Given the description of an element on the screen output the (x, y) to click on. 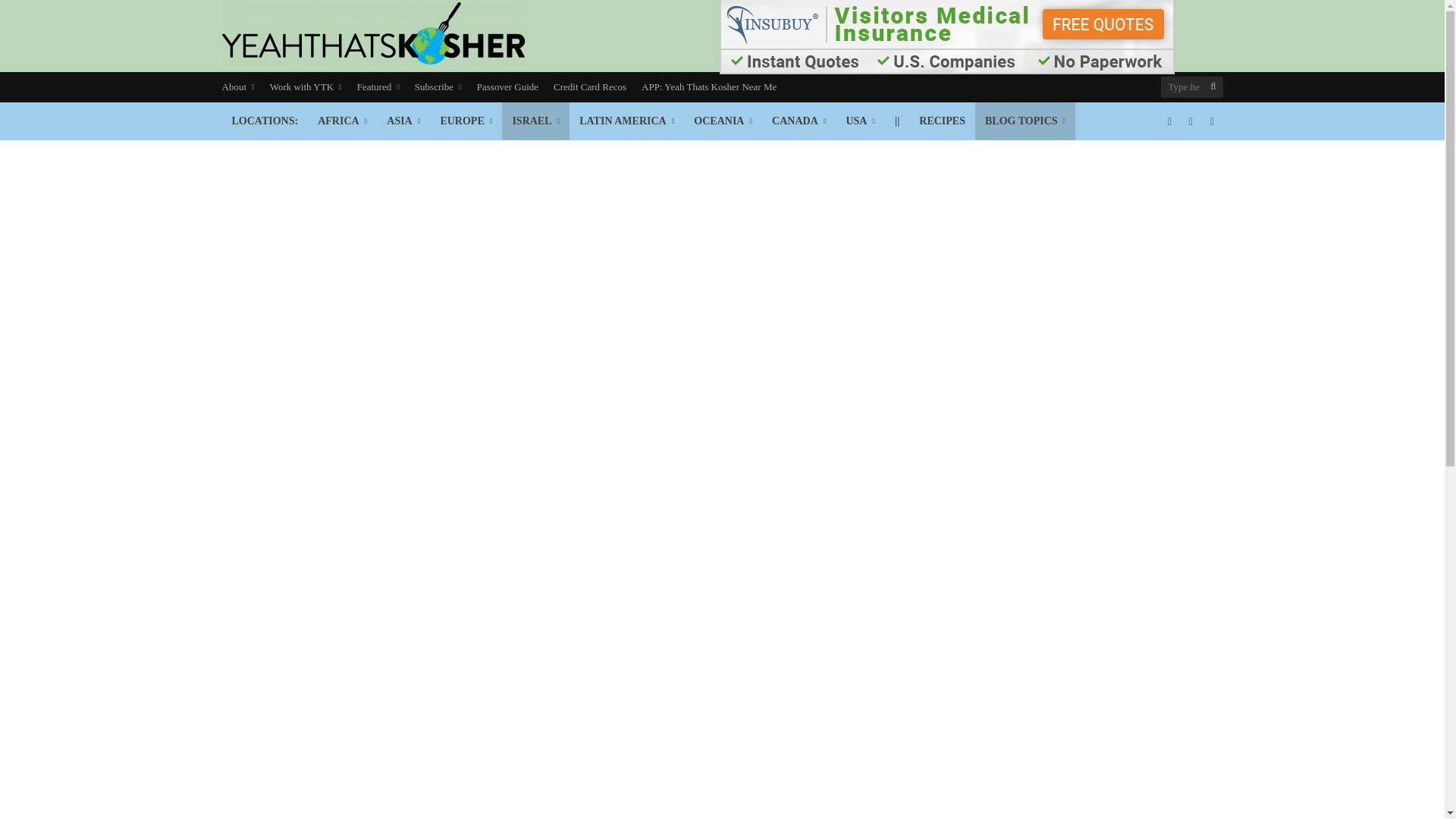
About (241, 87)
Passover Guide (507, 87)
Subscribe (437, 87)
APP: Yeah Thats Kosher Near Me (708, 87)
LOCATIONS: (264, 121)
Work with YTK (305, 87)
Credit Card Recos (589, 87)
AFRICA (342, 121)
Featured (378, 87)
